Given the description of an element on the screen output the (x, y) to click on. 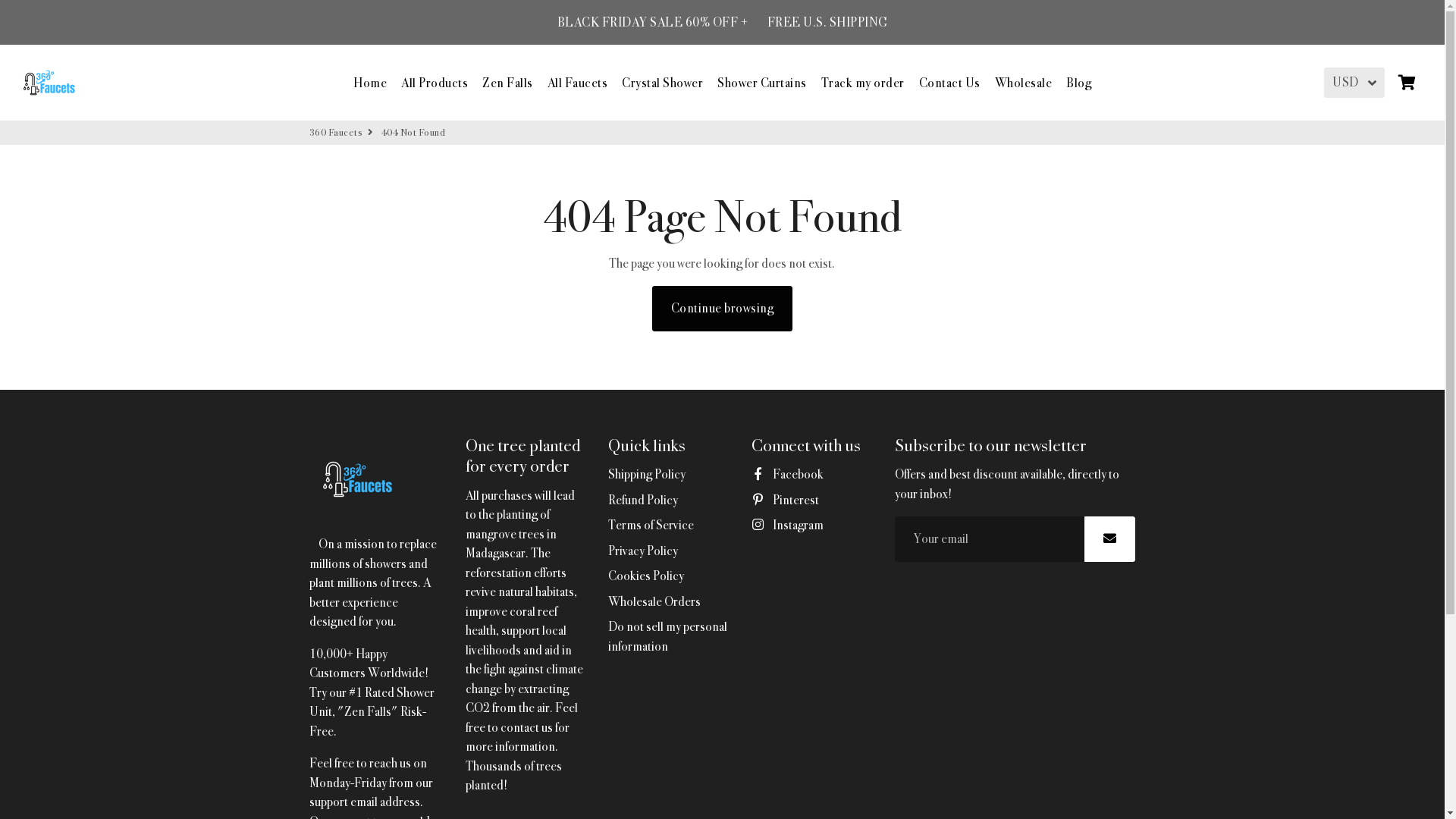
Track my order Element type: text (862, 81)
Cart Element type: text (1405, 82)
Do not sell my personal information Element type: text (668, 636)
Zen Falls Element type: text (507, 81)
360 Faucets Element type: text (48, 82)
Terms of Service Element type: text (650, 525)
Facebook Element type: text (787, 474)
Blog Element type: text (1078, 81)
Crystal Shower Element type: text (662, 81)
Refund Policy Element type: text (642, 500)
All Faucets Element type: text (577, 81)
All Products Element type: text (434, 81)
360 Faucets Element type: text (336, 132)
Contact Us Element type: text (949, 81)
Instagram Element type: text (787, 525)
Wholesale Element type: text (1023, 81)
Shower Curtains Element type: text (761, 81)
Continue browsing Element type: text (722, 308)
Privacy Policy Element type: text (642, 551)
Wholesale Orders Element type: text (654, 601)
Cookies Policy Element type: text (646, 576)
Home Element type: text (369, 81)
Pinterest Element type: text (785, 500)
Shipping Policy Element type: text (646, 474)
